Given the description of an element on the screen output the (x, y) to click on. 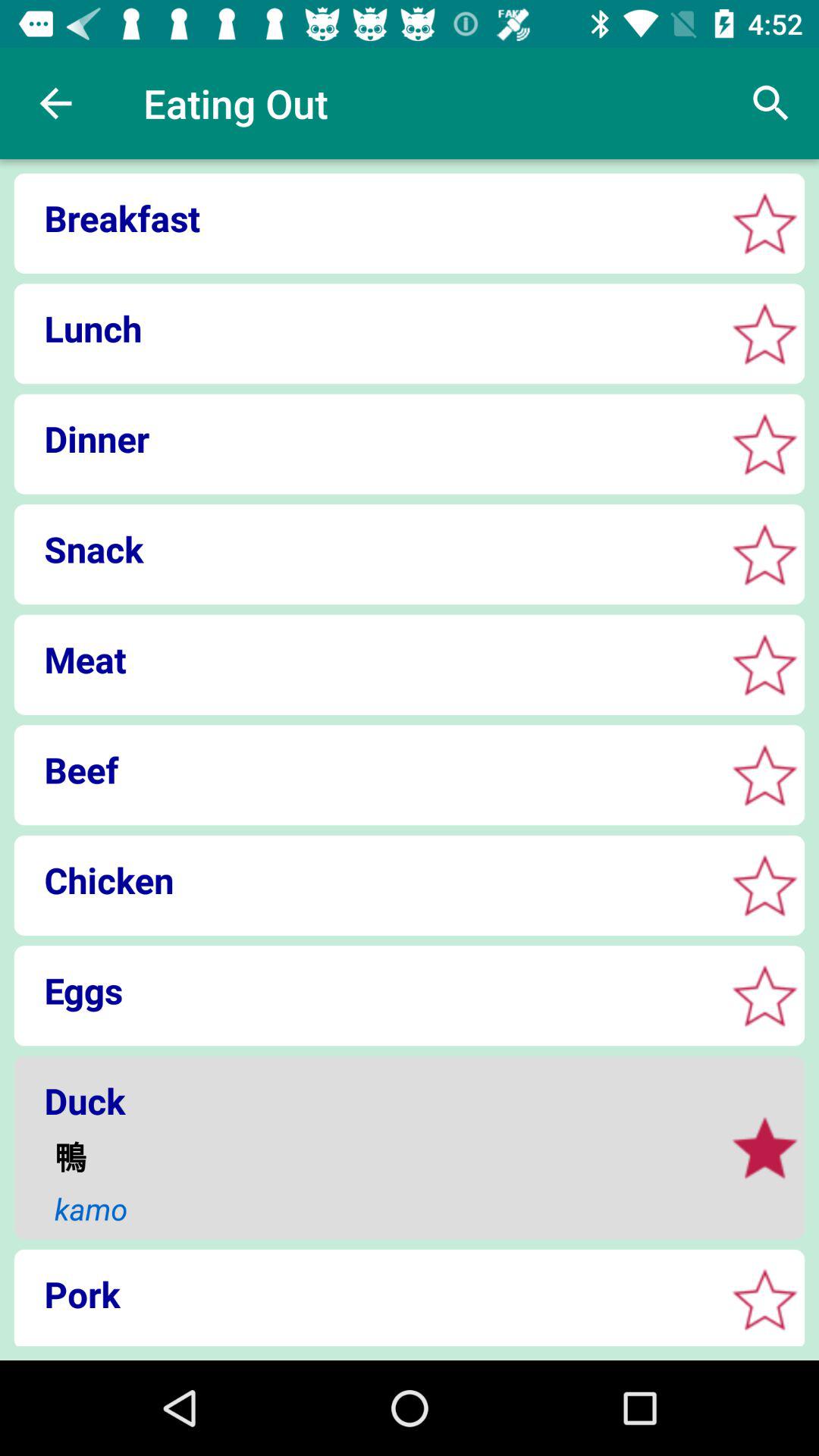
jump until breakfast icon (364, 217)
